Given the description of an element on the screen output the (x, y) to click on. 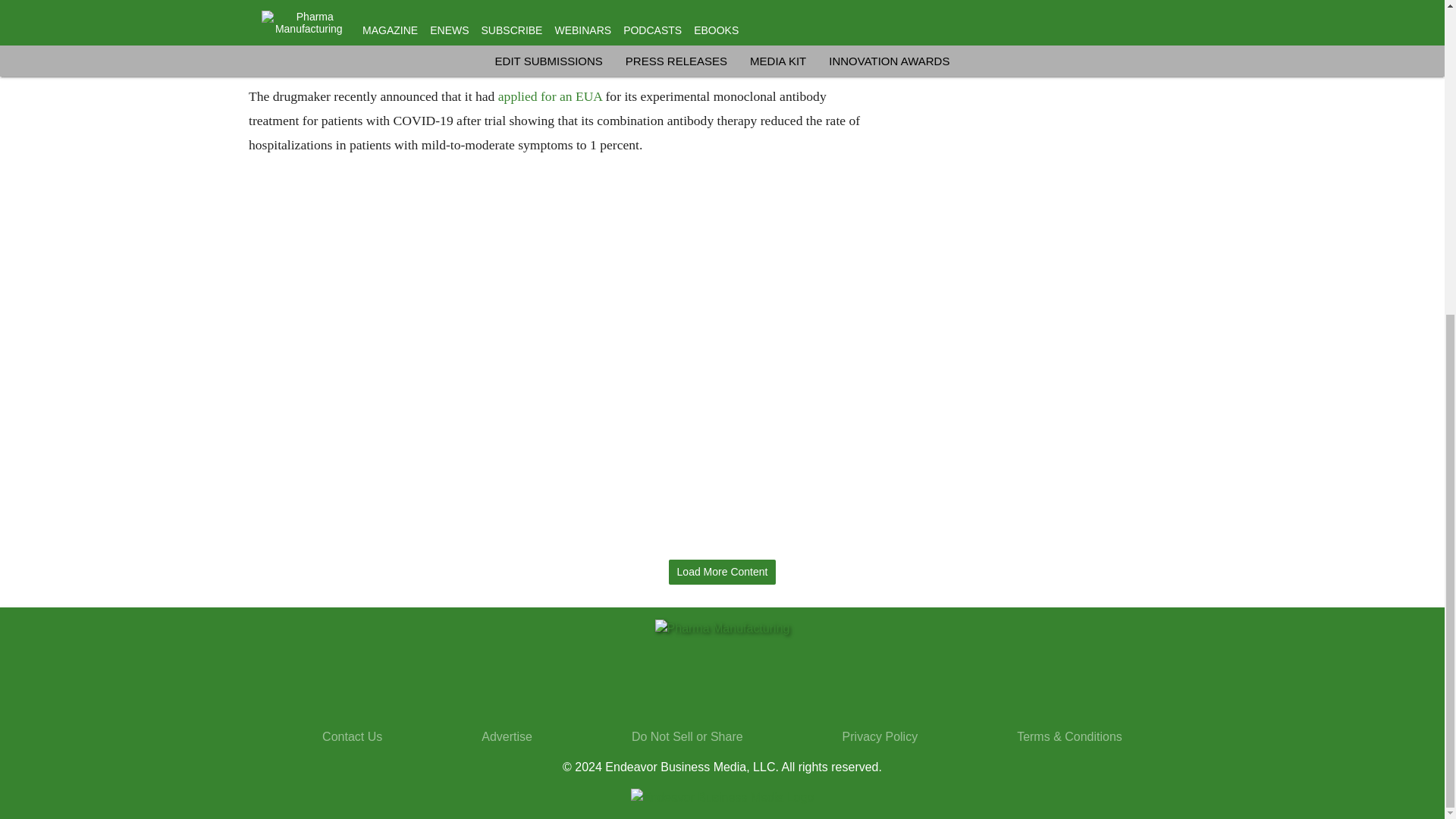
Load More Content (722, 571)
Privacy Policy (880, 736)
Contact Us (351, 736)
Advertise (506, 736)
Do Not Sell or Share (686, 736)
applied for an EUA (549, 96)
